Given the description of an element on the screen output the (x, y) to click on. 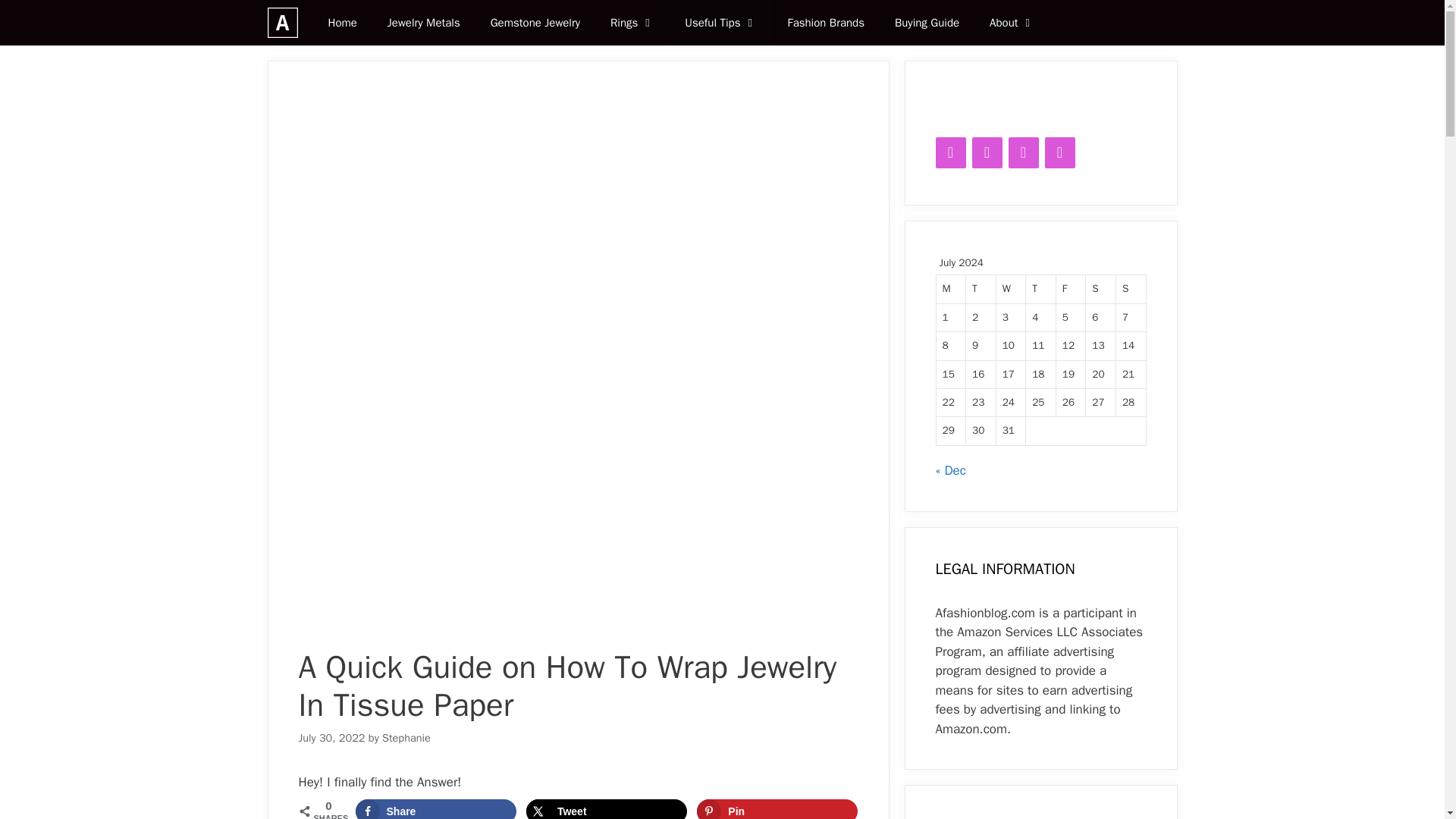
About (1011, 22)
Stephanie (405, 737)
Home (342, 22)
Gemstone Jewelry (535, 22)
Rings (632, 22)
Buying Guide (926, 22)
Save to Pinterest (777, 809)
Useful Tips (720, 22)
Fashion Brands (825, 22)
Share (435, 809)
Share on X (606, 809)
View all posts by Stephanie (405, 737)
Share on Facebook (435, 809)
Jewelry Metals (424, 22)
